Given the description of an element on the screen output the (x, y) to click on. 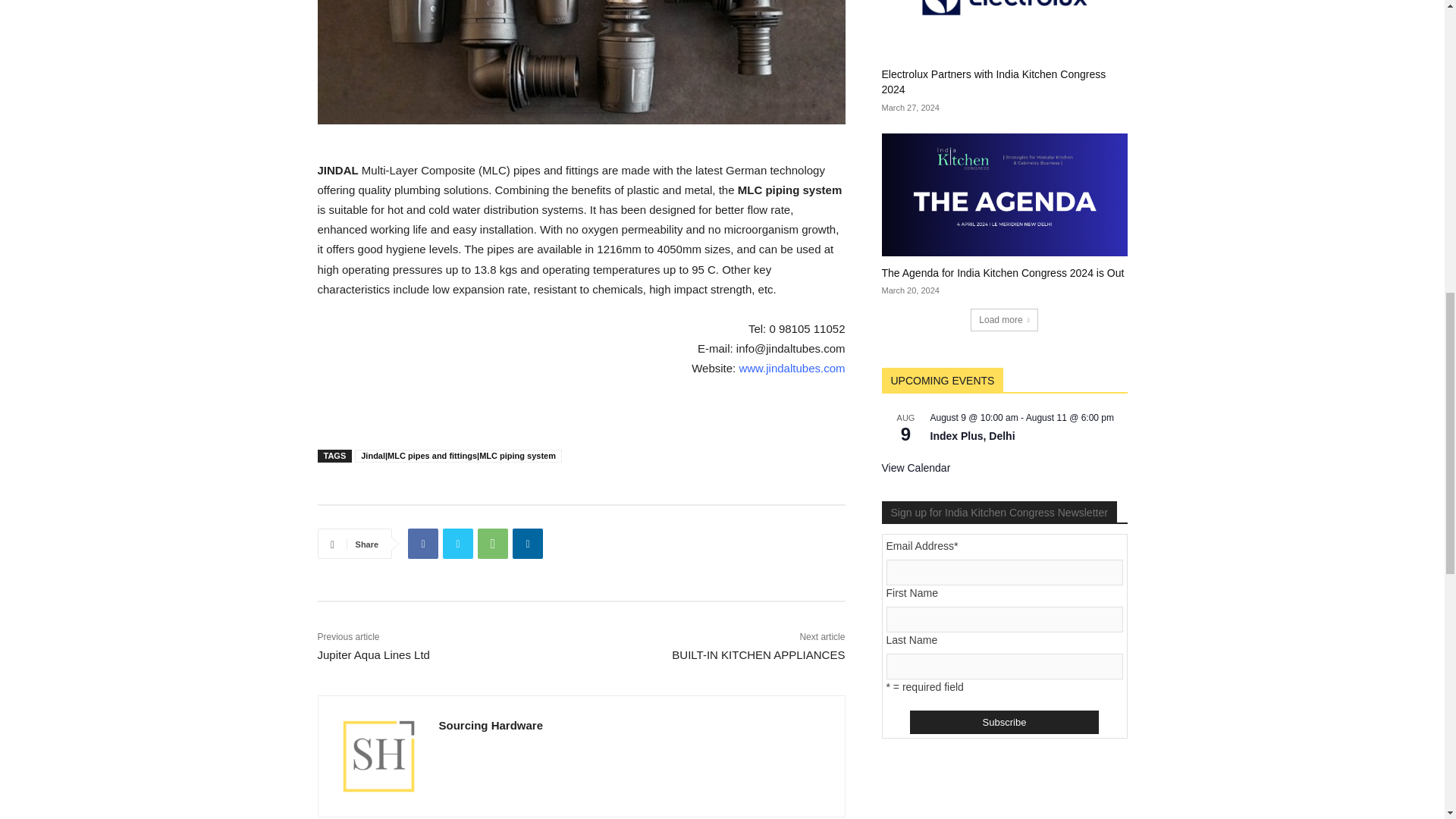
Subscribe (1004, 721)
